Given the description of an element on the screen output the (x, y) to click on. 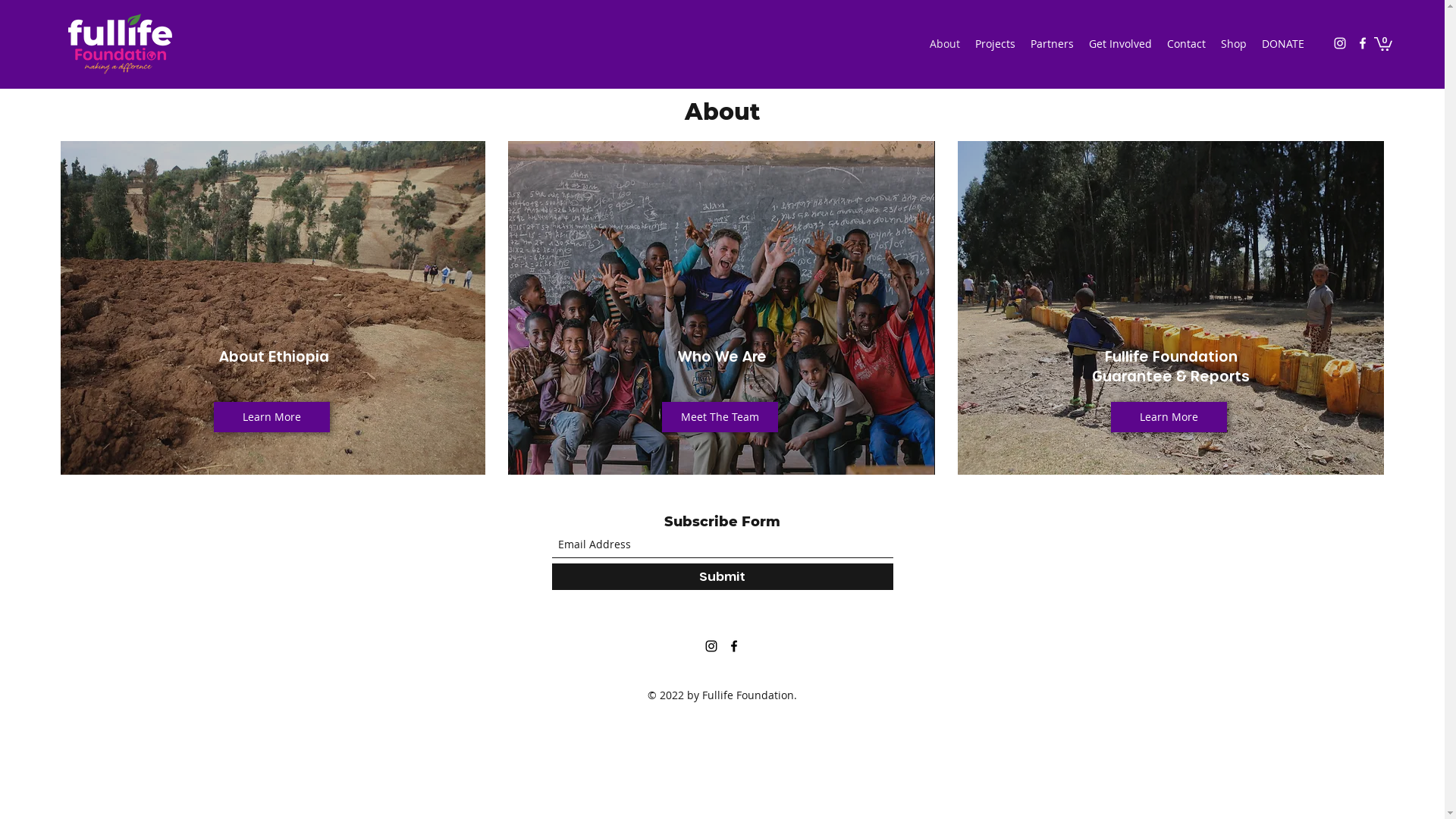
About Element type: text (944, 43)
0 Element type: text (1383, 42)
DONATE Element type: text (1282, 43)
Partners Element type: text (1051, 43)
Learn More Element type: text (271, 416)
Contact Element type: text (1186, 43)
Shop Element type: text (1233, 43)
Submit Element type: text (722, 575)
Meet The Team Element type: text (720, 416)
Get Involved Element type: text (1120, 43)
Learn More Element type: text (1168, 416)
Projects Element type: text (994, 43)
